Given the description of an element on the screen output the (x, y) to click on. 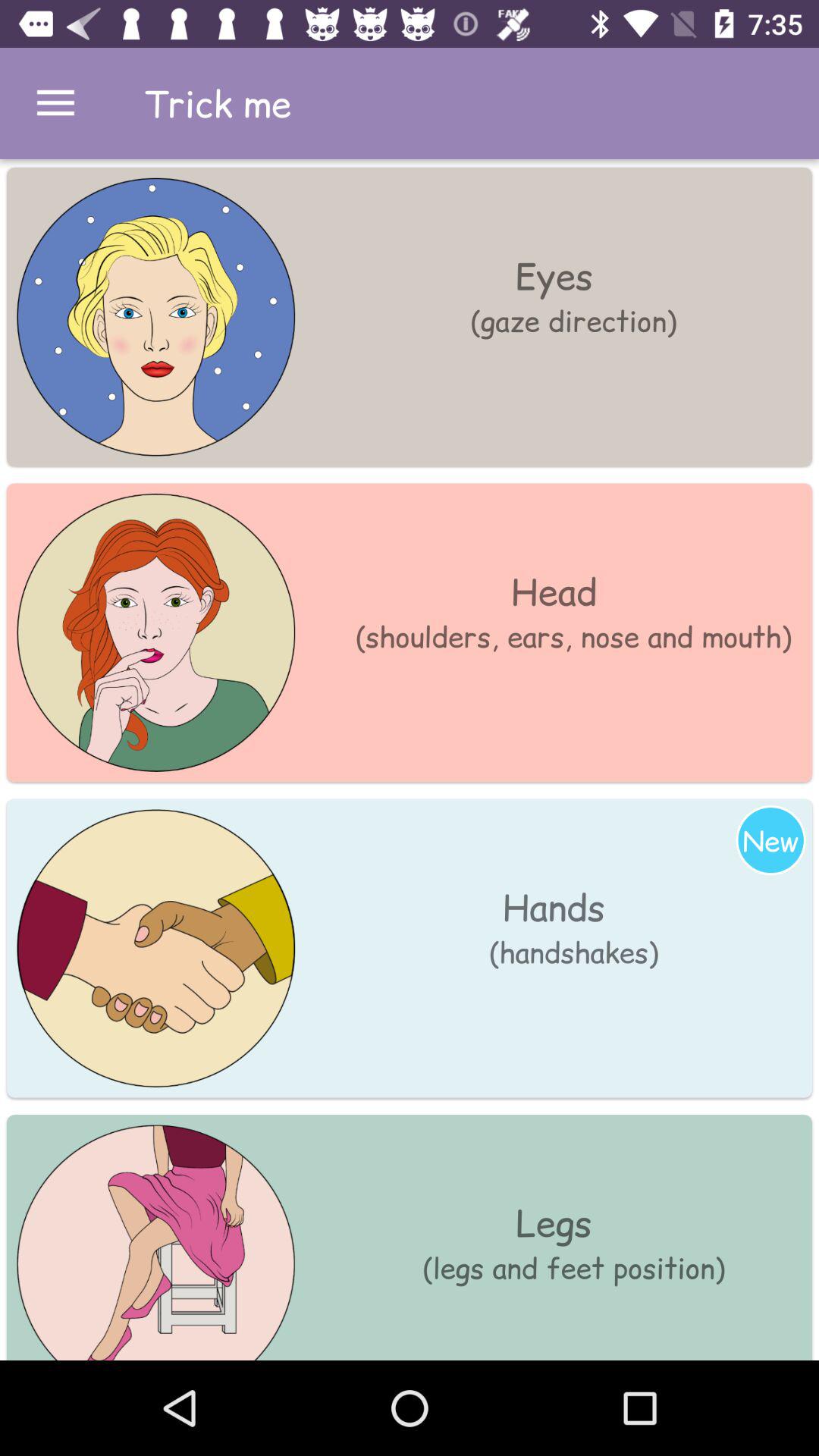
go to menu (55, 103)
